Given the description of an element on the screen output the (x, y) to click on. 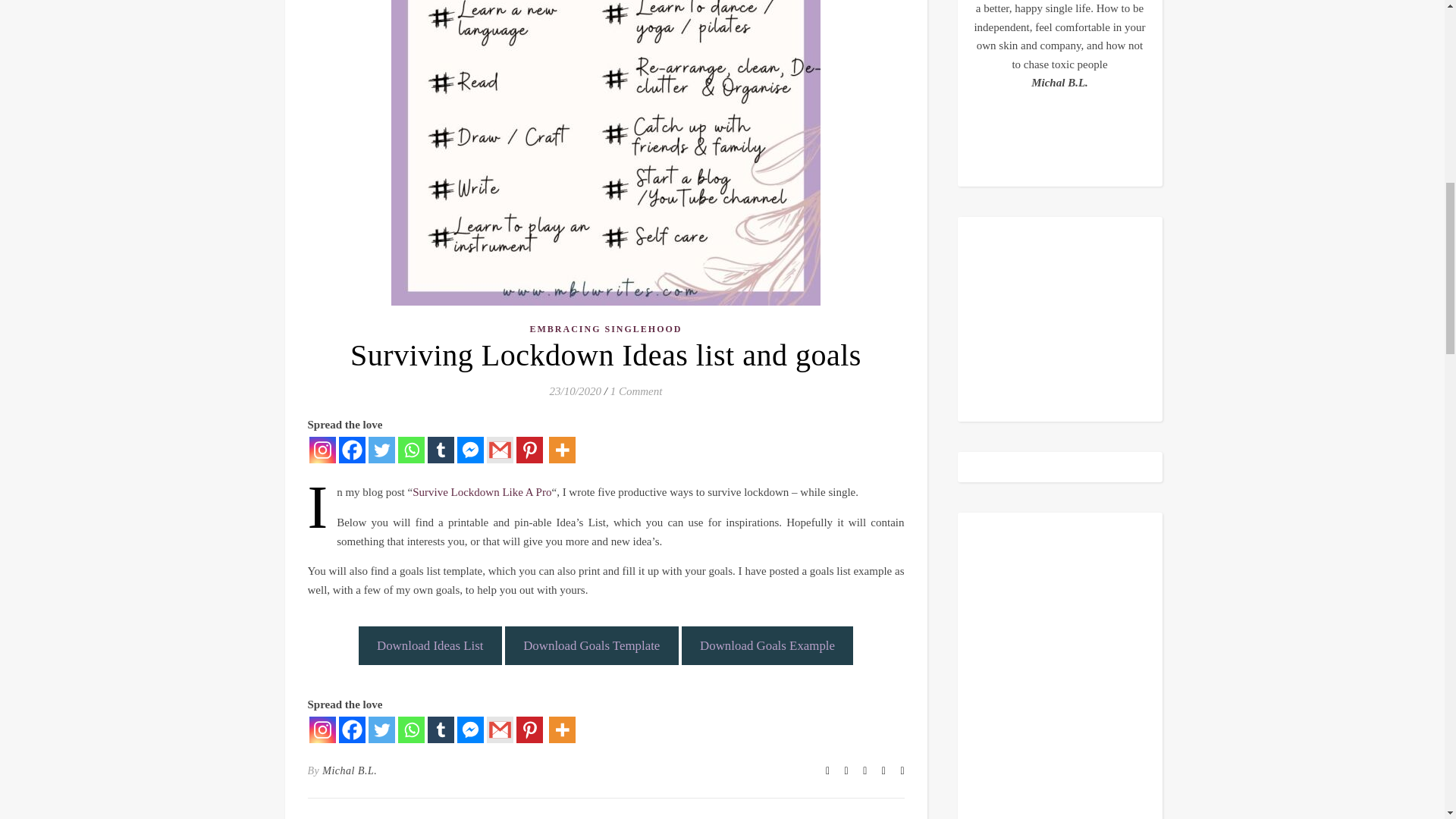
Whatsapp (410, 729)
Whatsapp (410, 449)
Twitter (381, 449)
Instagram (322, 449)
Facebook (351, 449)
Instagram (322, 729)
Google Gmail (499, 449)
EMBRACING SINGLEHOOD (605, 329)
Tumblr (441, 449)
Twitter (381, 729)
Pinterest (528, 449)
More (561, 449)
Facebook (351, 729)
1 Comment (636, 390)
